Given the description of an element on the screen output the (x, y) to click on. 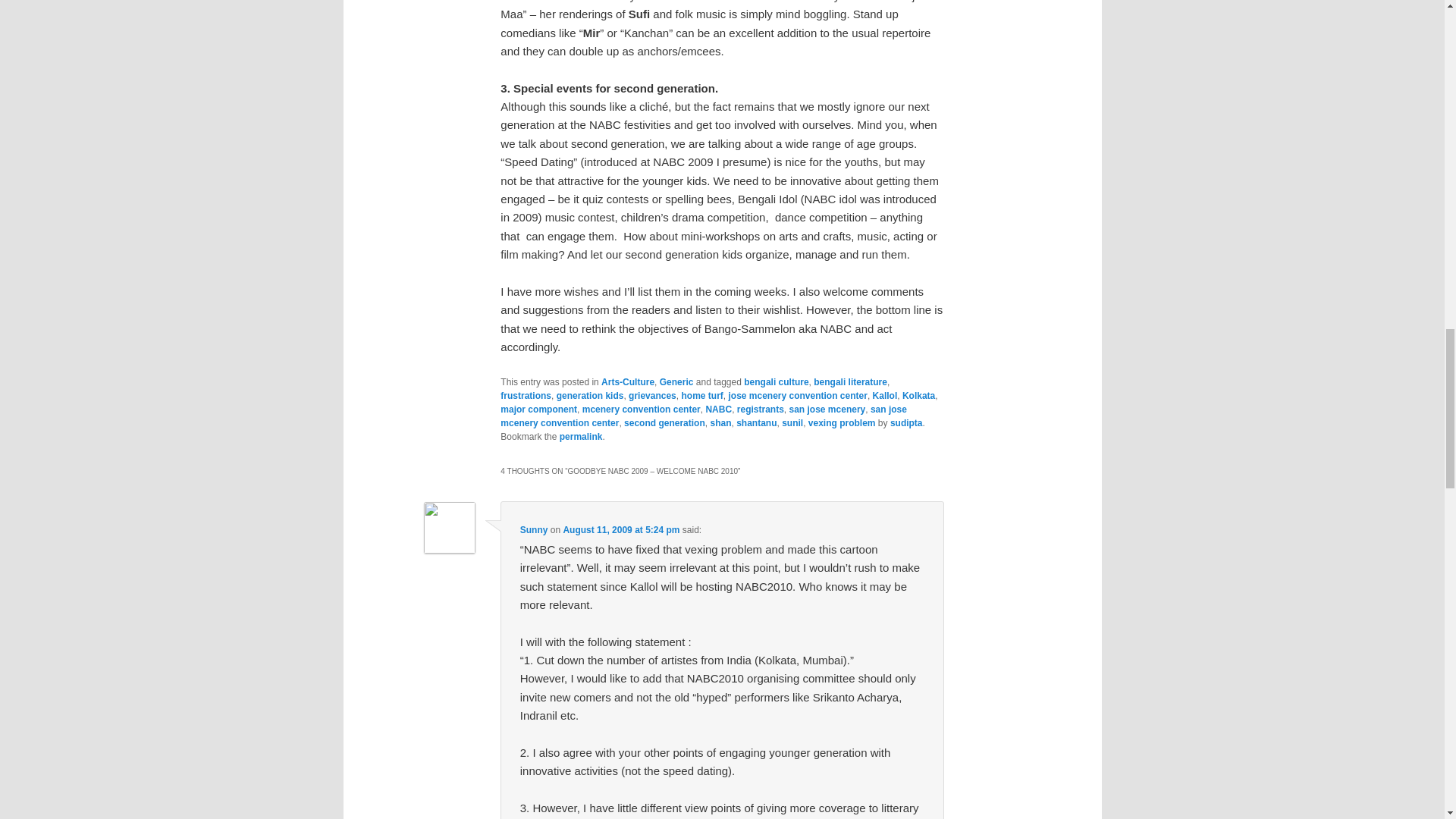
NABC (718, 409)
shan (720, 422)
bengali literature (849, 381)
frustrations (525, 395)
generation kids (590, 395)
san jose mcenery convention center (703, 416)
mcenery convention center (641, 409)
second generation (664, 422)
Kallol (885, 395)
Kolkata (918, 395)
